Given the description of an element on the screen output the (x, y) to click on. 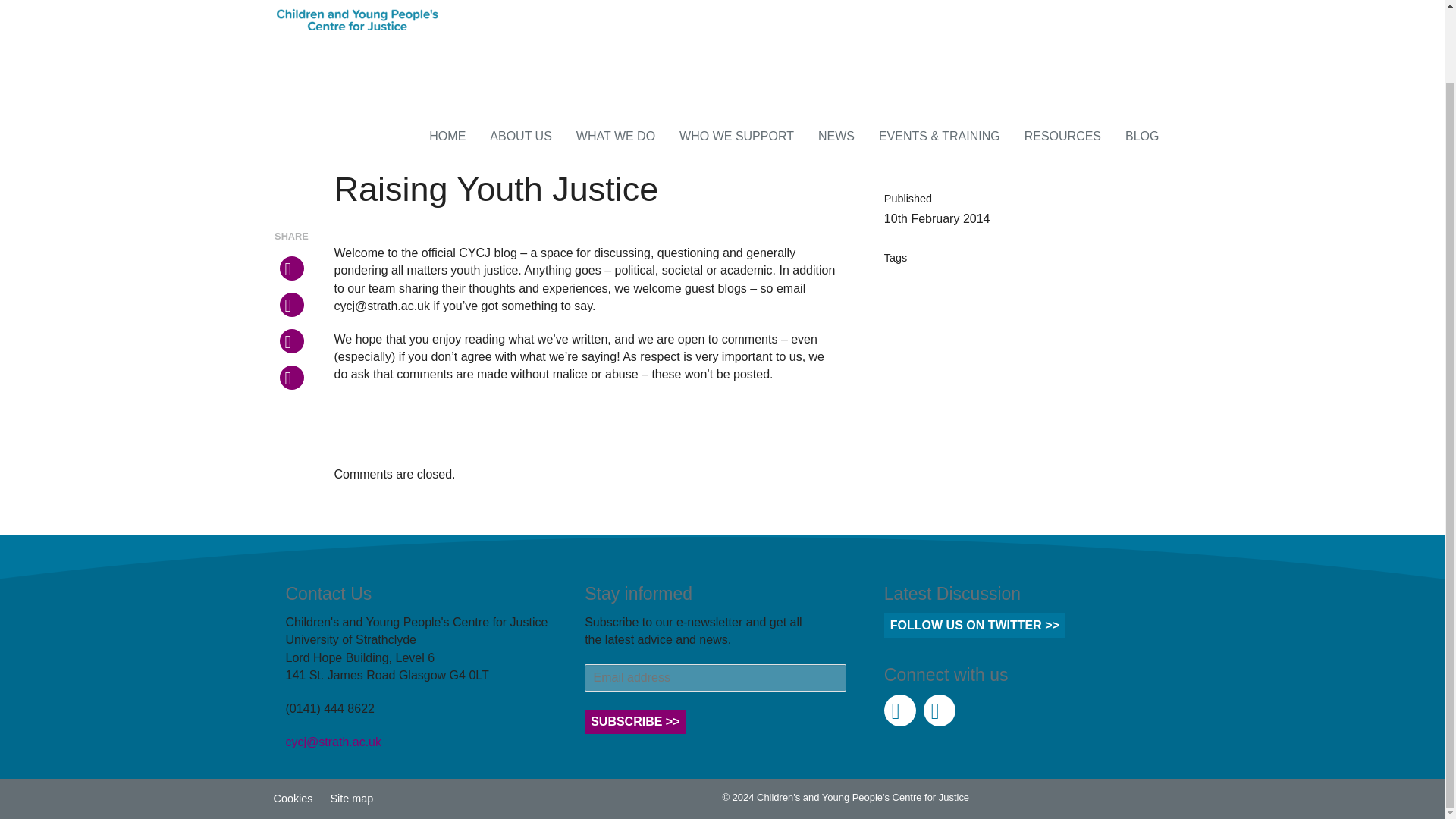
ABOUT US (520, 136)
Follow CYCJScotland on Twitter (899, 710)
Site map (352, 798)
Share this on Twitter (290, 268)
RESOURCES (1062, 136)
Share this on Facebook (290, 304)
Share this on Linkedin (290, 377)
WHO WE SUPPORT (736, 136)
BLOG (1141, 136)
HOME (447, 136)
NEWS (836, 136)
Visit the CYCJ Facebook page (939, 710)
WHAT WE DO (615, 136)
Cookies (293, 798)
